Given the description of an element on the screen output the (x, y) to click on. 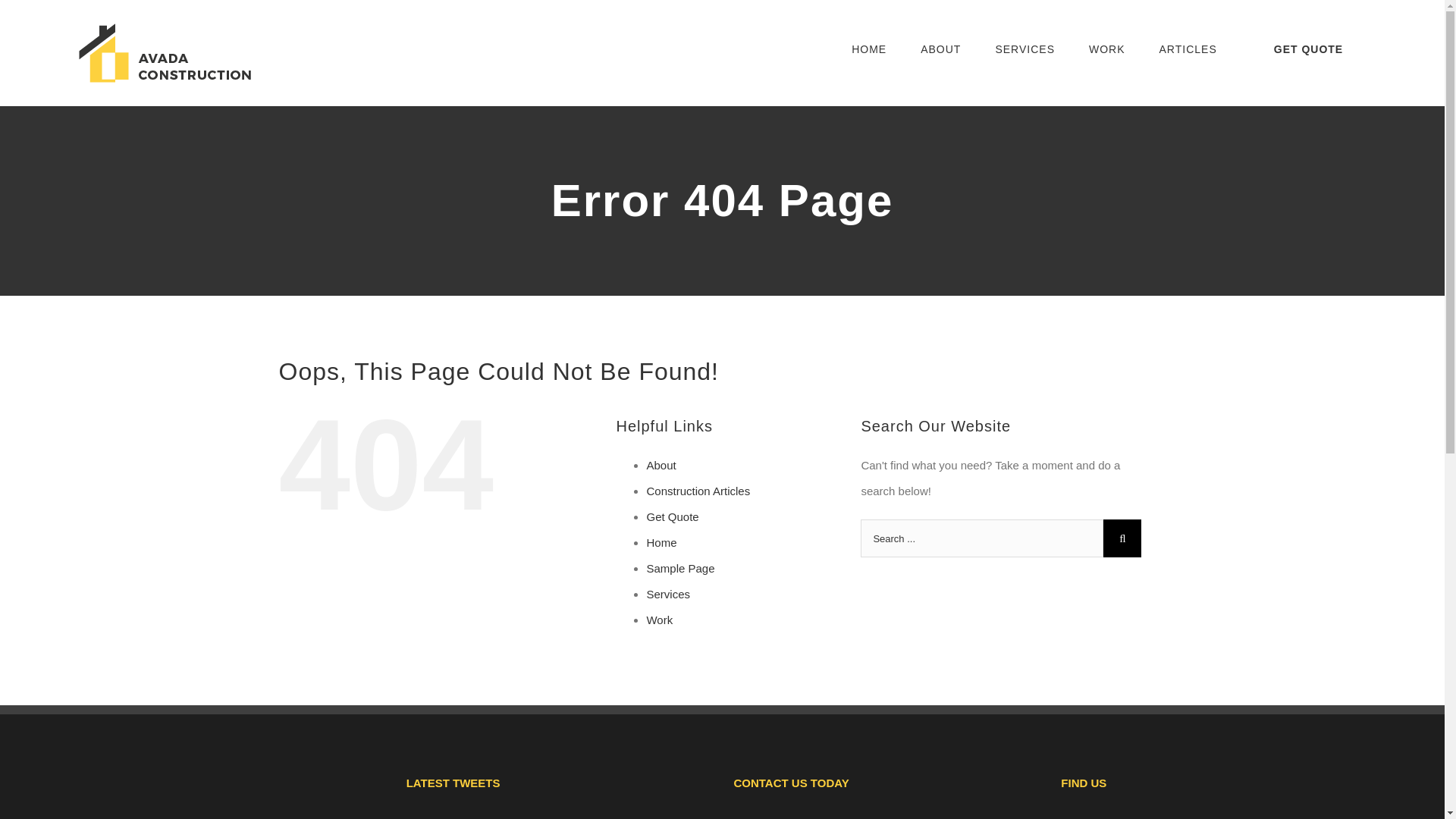
GET QUOTE (1307, 49)
Get Quote (672, 516)
Work (659, 619)
About (660, 464)
Sample Page (680, 567)
Services (668, 594)
Home (661, 542)
Construction Articles (697, 490)
